Given the description of an element on the screen output the (x, y) to click on. 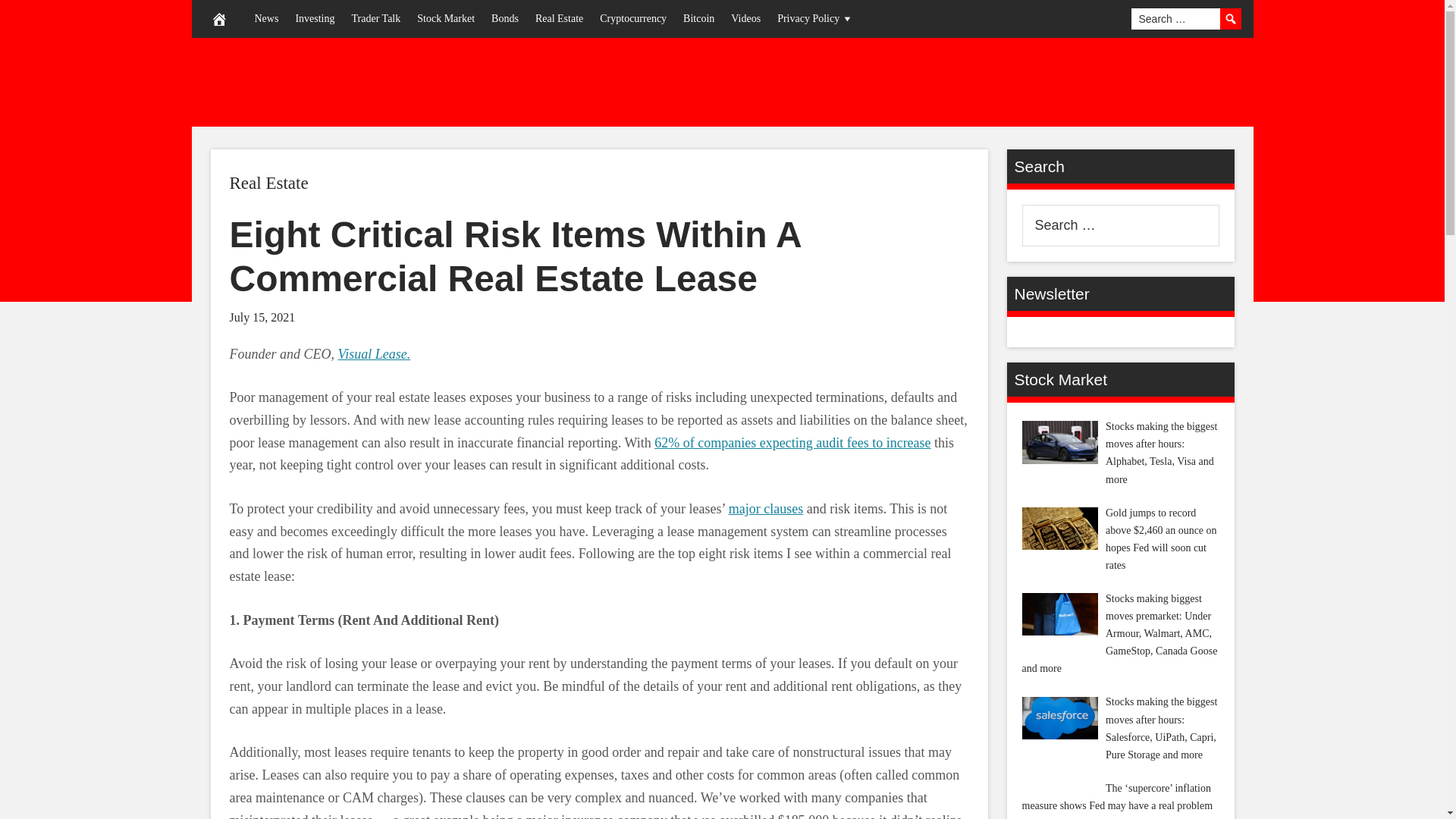
Real Estate (267, 182)
Privacy Policy (814, 18)
Bitcoin (698, 18)
Investing (314, 18)
Stock Market (446, 18)
News (266, 18)
Videos (745, 18)
Visual Lease. (373, 353)
Real Estate (267, 182)
Bonds (505, 18)
Trader Talk (375, 18)
Real Estate (559, 18)
